Given the description of an element on the screen output the (x, y) to click on. 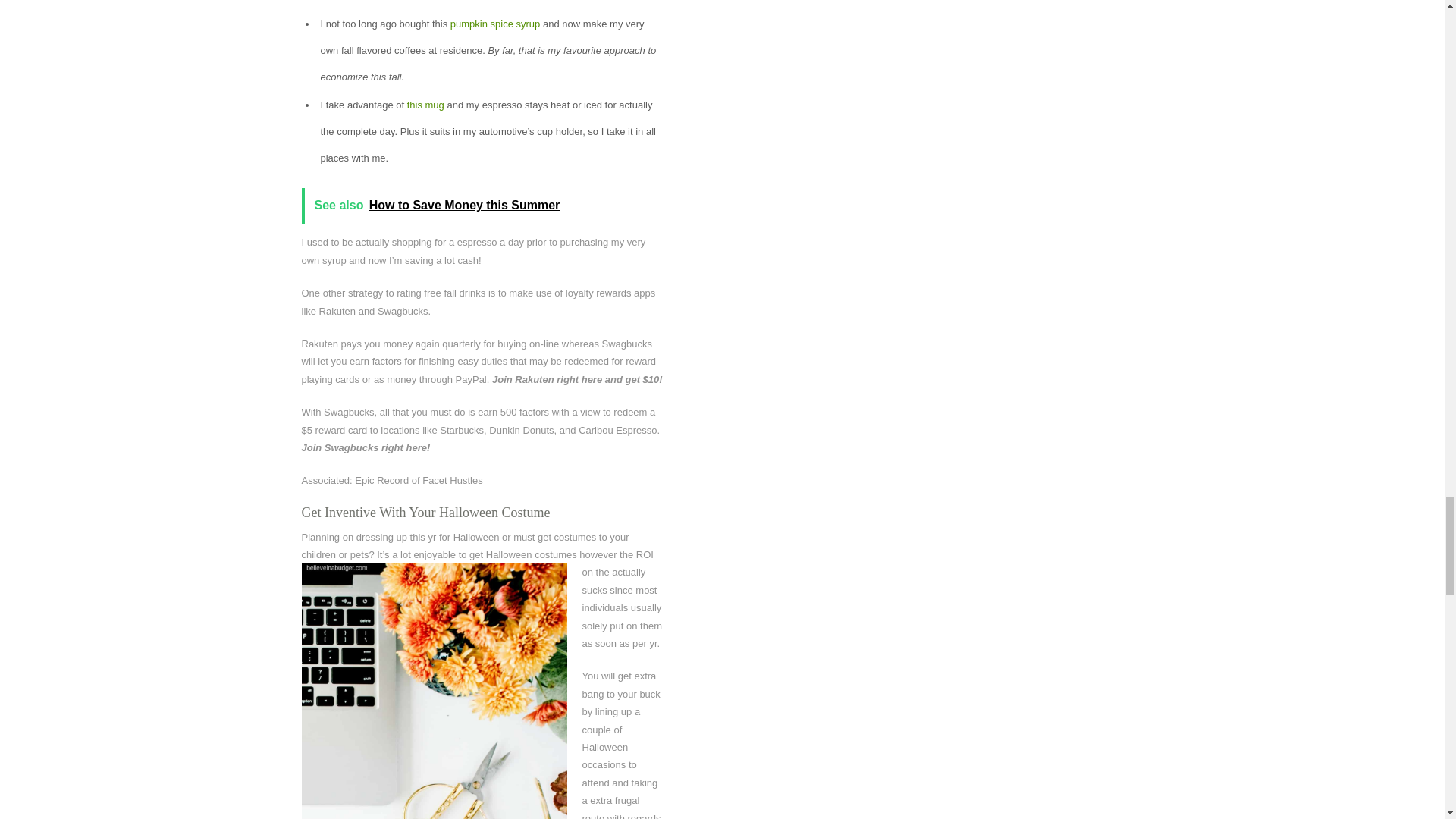
this mug (425, 104)
See also  How to Save Money this Summer (483, 205)
pumpkin spice syrup (494, 23)
